Given the description of an element on the screen output the (x, y) to click on. 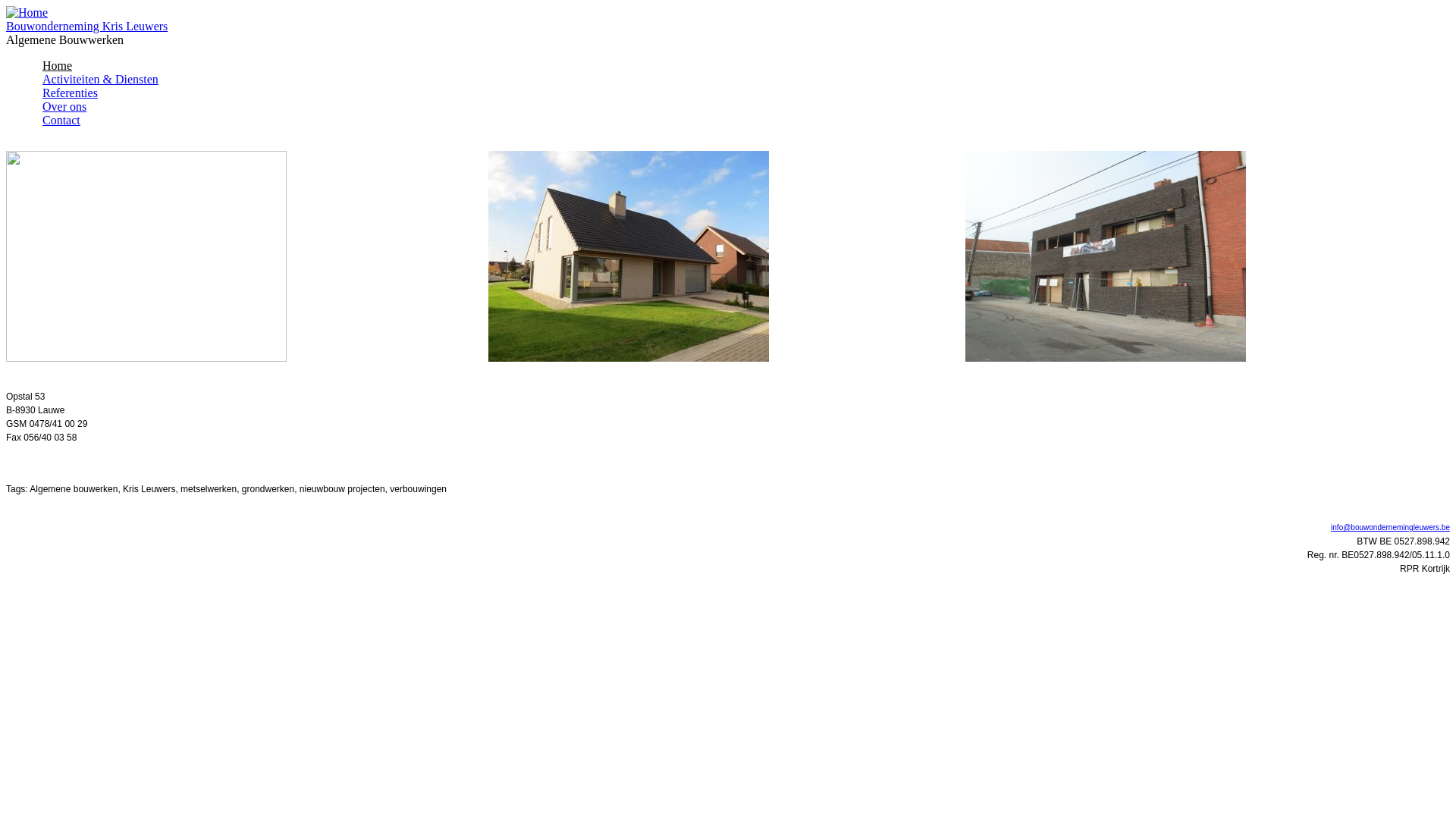
Overslaan en naar de inhoud gaan Element type: text (88, 6)
Contact Element type: text (61, 119)
Bouwonderneming Kris Leuwers Element type: text (86, 25)
Home Element type: text (57, 65)
Referenties Element type: text (69, 92)
info@bouwondernemingleuwers.be Element type: text (1389, 527)
Over ons Element type: text (64, 106)
Activiteiten & Diensten Element type: text (100, 78)
Home Element type: hover (26, 12)
